Given the description of an element on the screen output the (x, y) to click on. 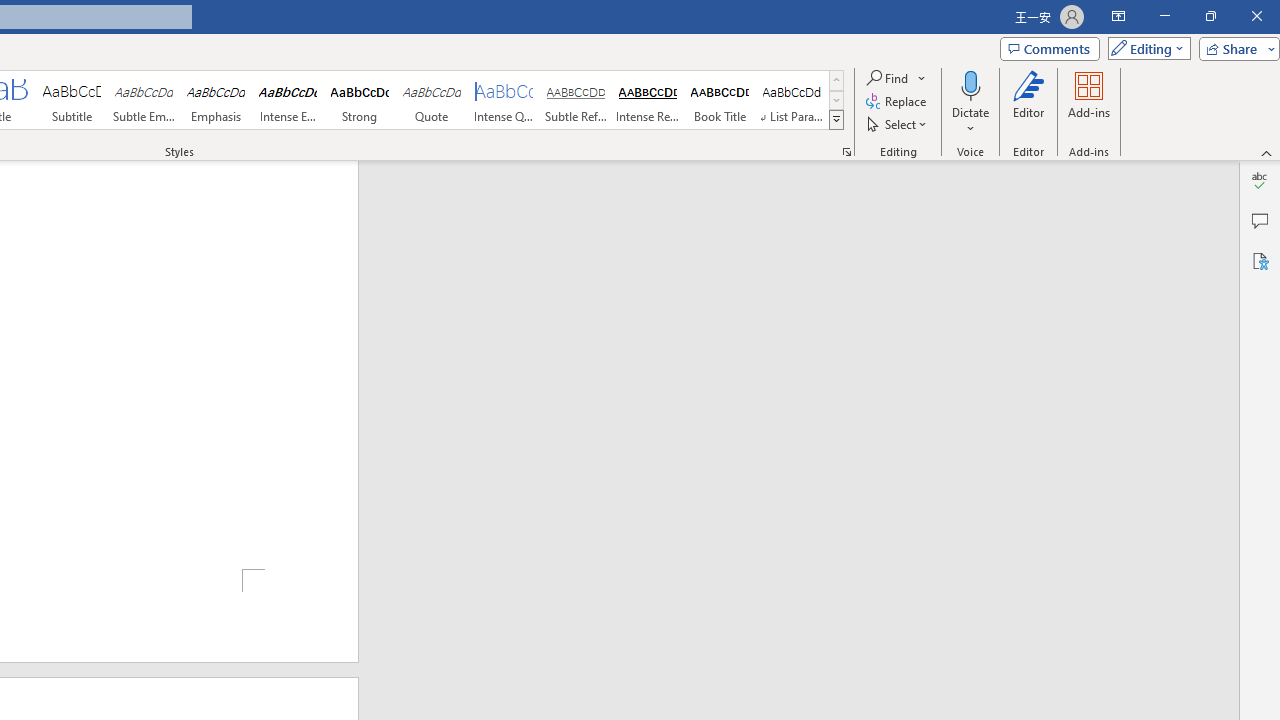
Comments (1260, 220)
Replace... (897, 101)
Restore Down (1210, 16)
Editor (1260, 180)
Share (1235, 48)
Row Down (836, 100)
Ribbon Display Options (1118, 16)
Emphasis (216, 100)
Row up (836, 79)
Class: NetUIImage (836, 119)
Editing (1144, 47)
Subtle Emphasis (143, 100)
Styles... (846, 151)
